Given the description of an element on the screen output the (x, y) to click on. 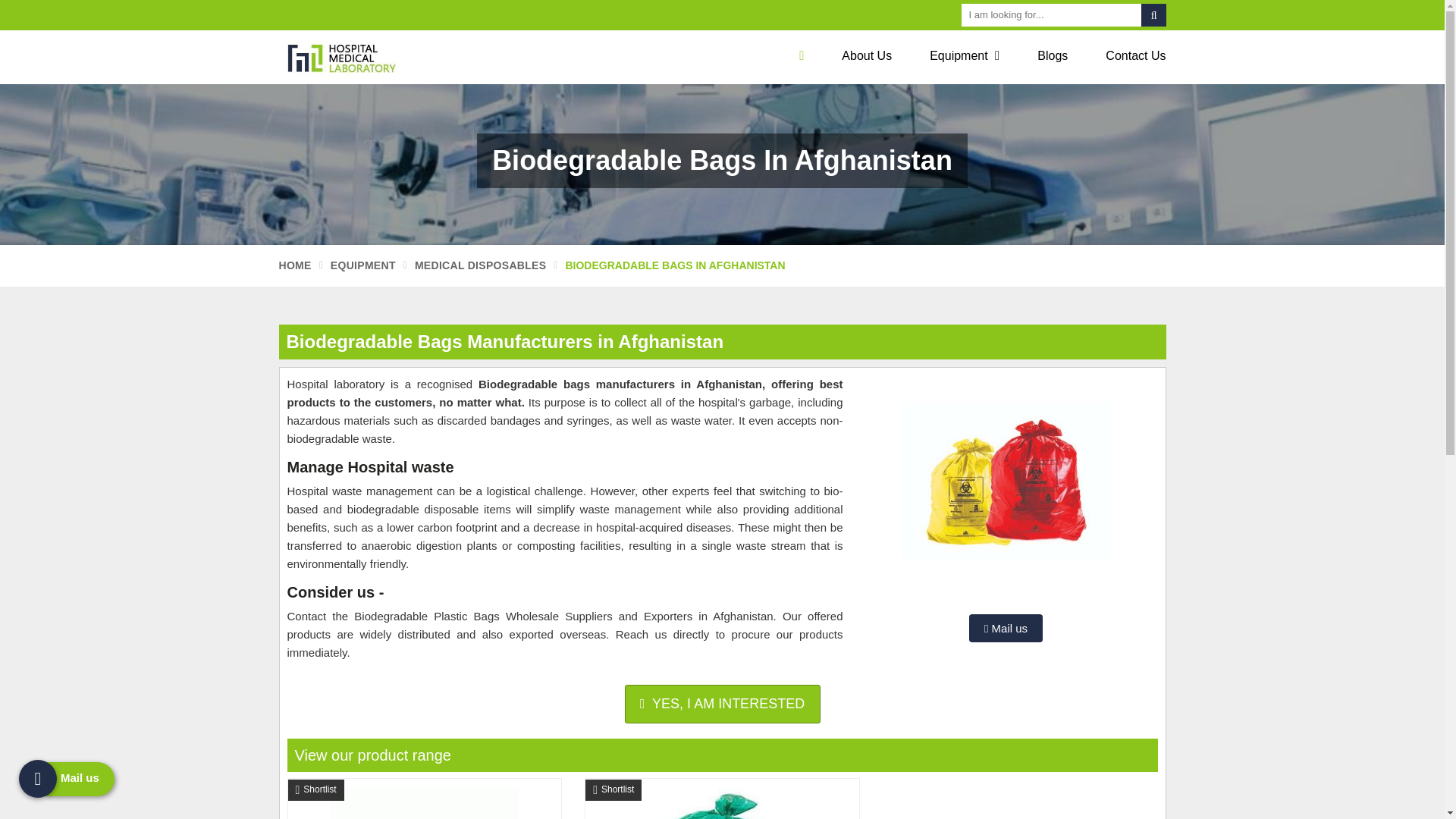
Equipment (964, 56)
Equipment (964, 56)
About Us (866, 56)
Hospital Medical Laboratory (381, 57)
Hospital Medical Laboratory (349, 57)
About Us (866, 56)
